Given the description of an element on the screen output the (x, y) to click on. 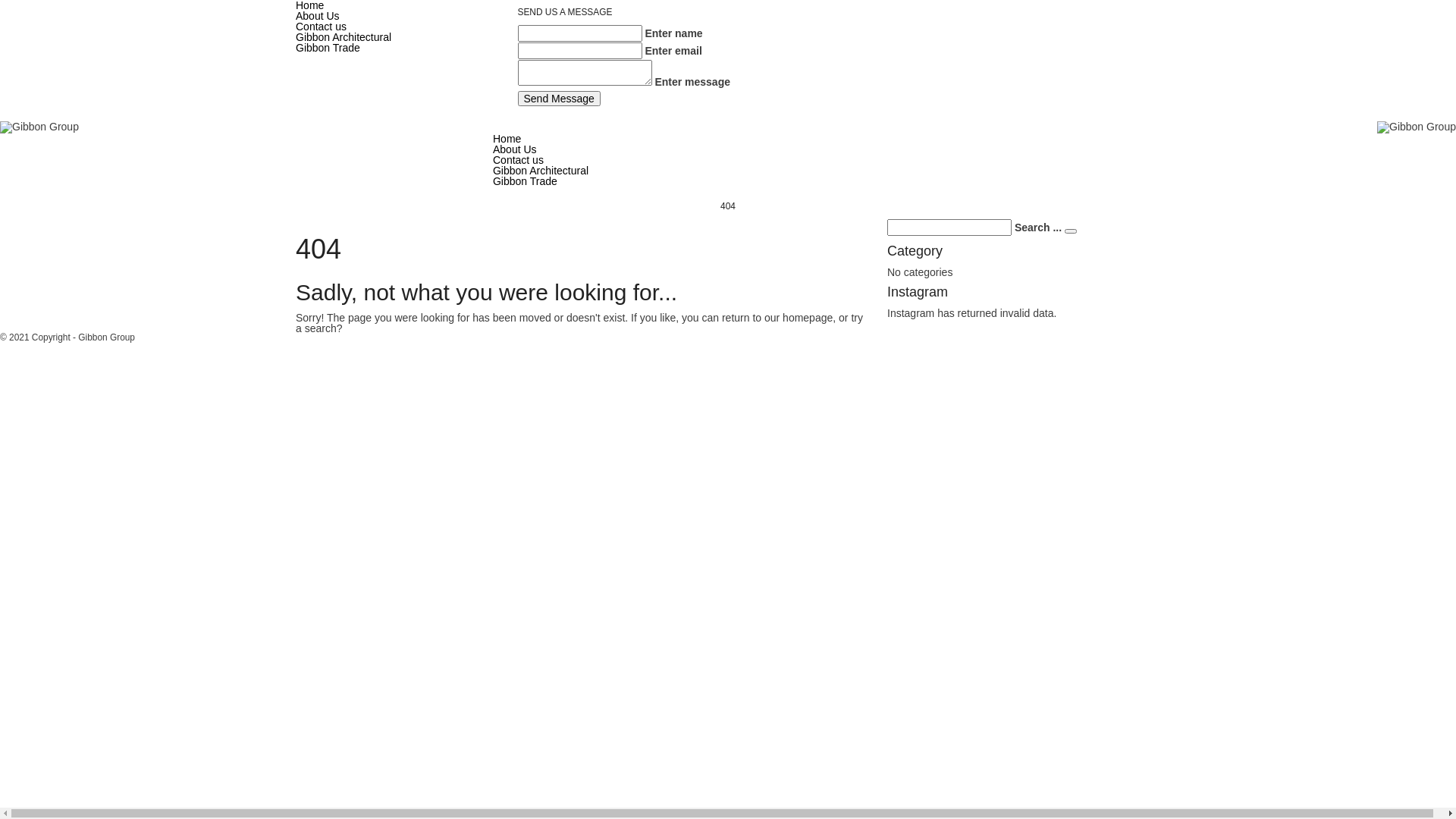
Gibbon Trade Element type: text (327, 47)
Contact us Element type: text (320, 26)
Gibbon Architectural Element type: text (343, 37)
Gibbon Trade Element type: text (524, 181)
Home Element type: text (506, 138)
About Us Element type: text (317, 15)
Contact us Element type: text (517, 159)
Gibbon Architectural Element type: text (540, 170)
About Us Element type: text (514, 149)
Send Message Element type: text (558, 98)
